Given the description of an element on the screen output the (x, y) to click on. 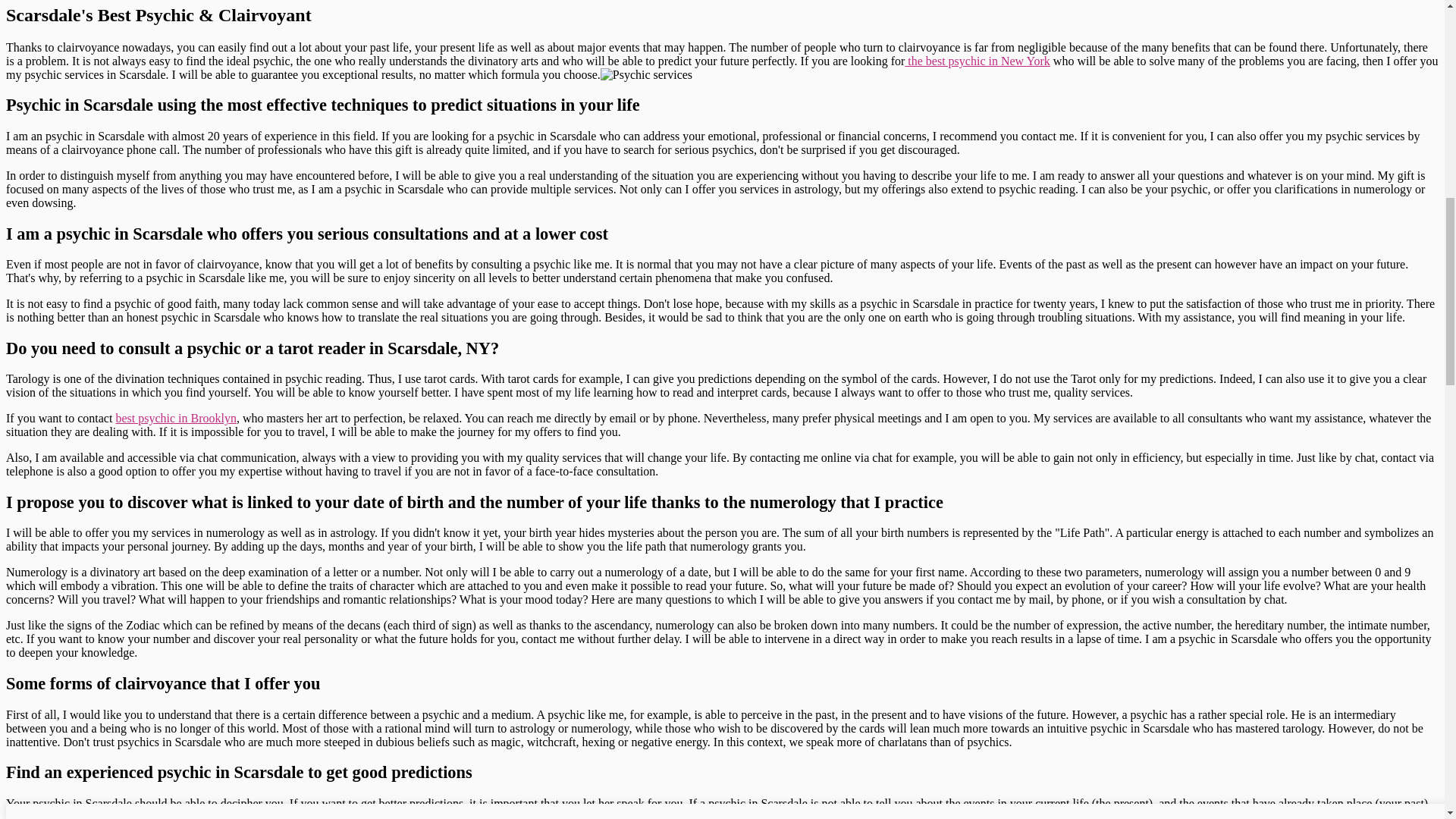
the best psychic in New York (976, 60)
best psychic in Brooklyn (175, 418)
